Given the description of an element on the screen output the (x, y) to click on. 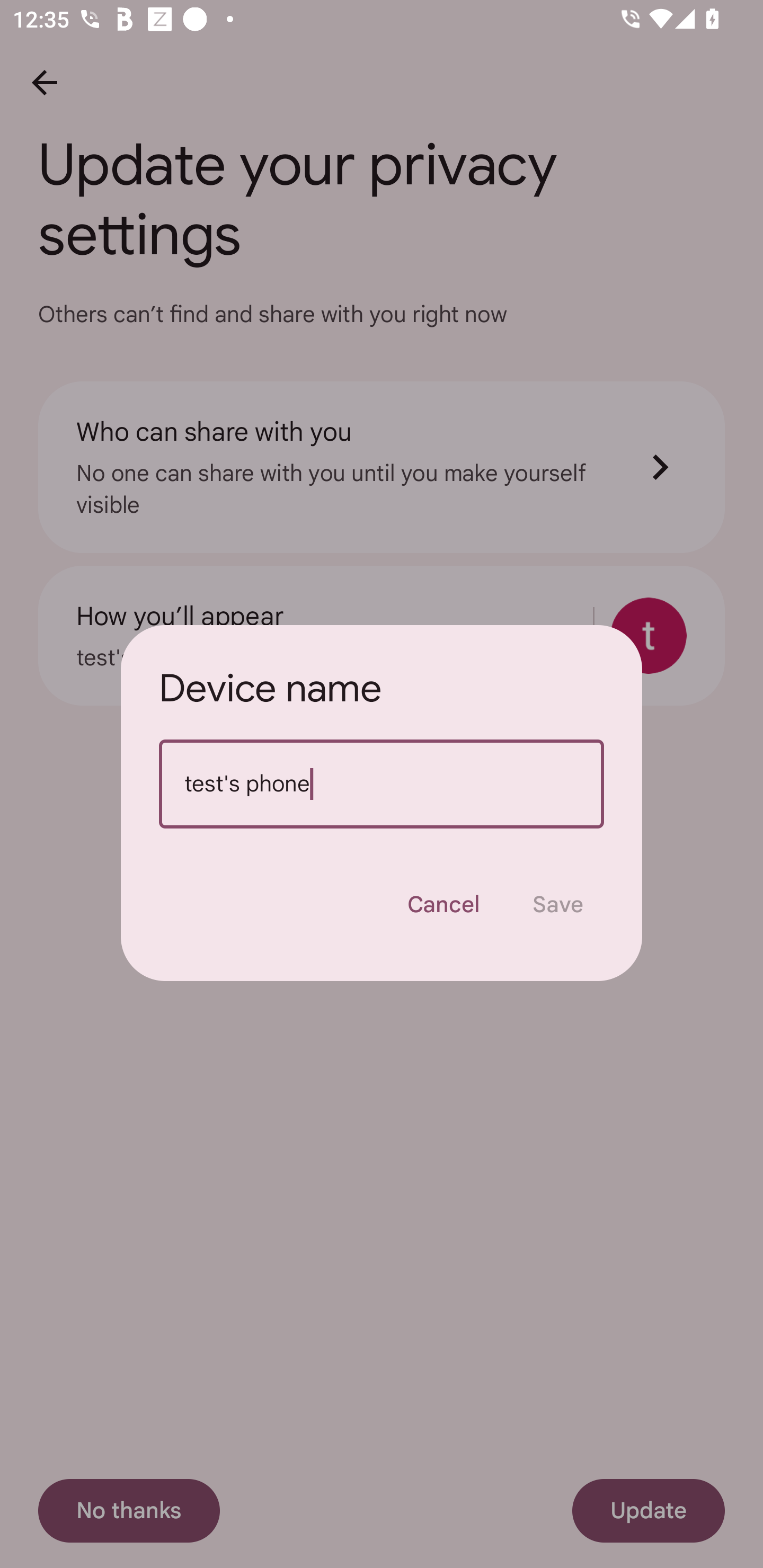
test's phone Device name (381, 783)
Cancel (443, 904)
Save (557, 904)
